Given the description of an element on the screen output the (x, y) to click on. 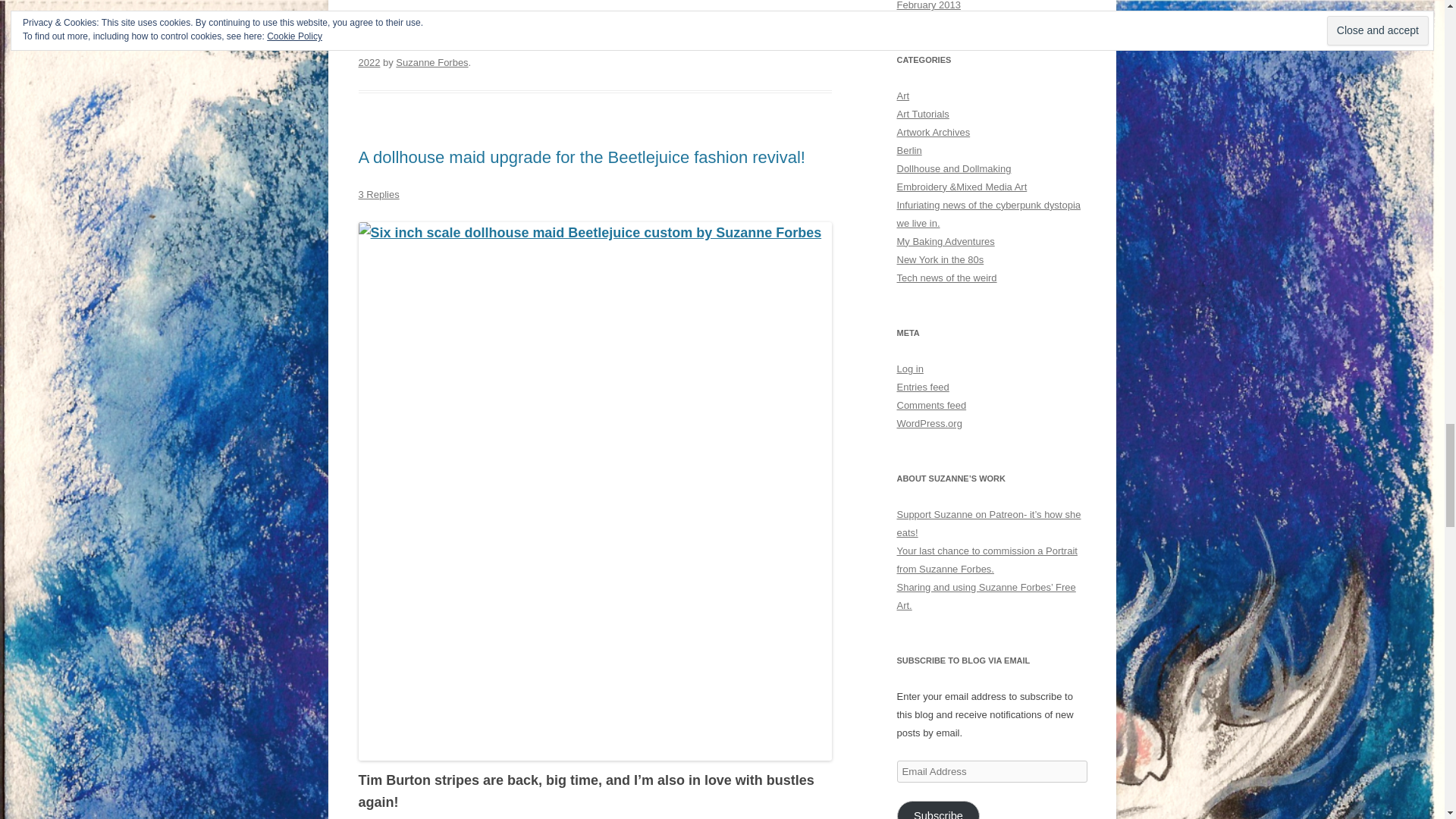
action figure customizing (690, 25)
action figure dollhouse (580, 34)
3:35 pm (585, 52)
View all posts by Suzanne Forbes (431, 61)
x men dollhouse (631, 43)
X-Men action figures (717, 43)
July 29, 2022 (585, 52)
dollmaking (567, 43)
contemporary crafts (494, 43)
